Given the description of an element on the screen output the (x, y) to click on. 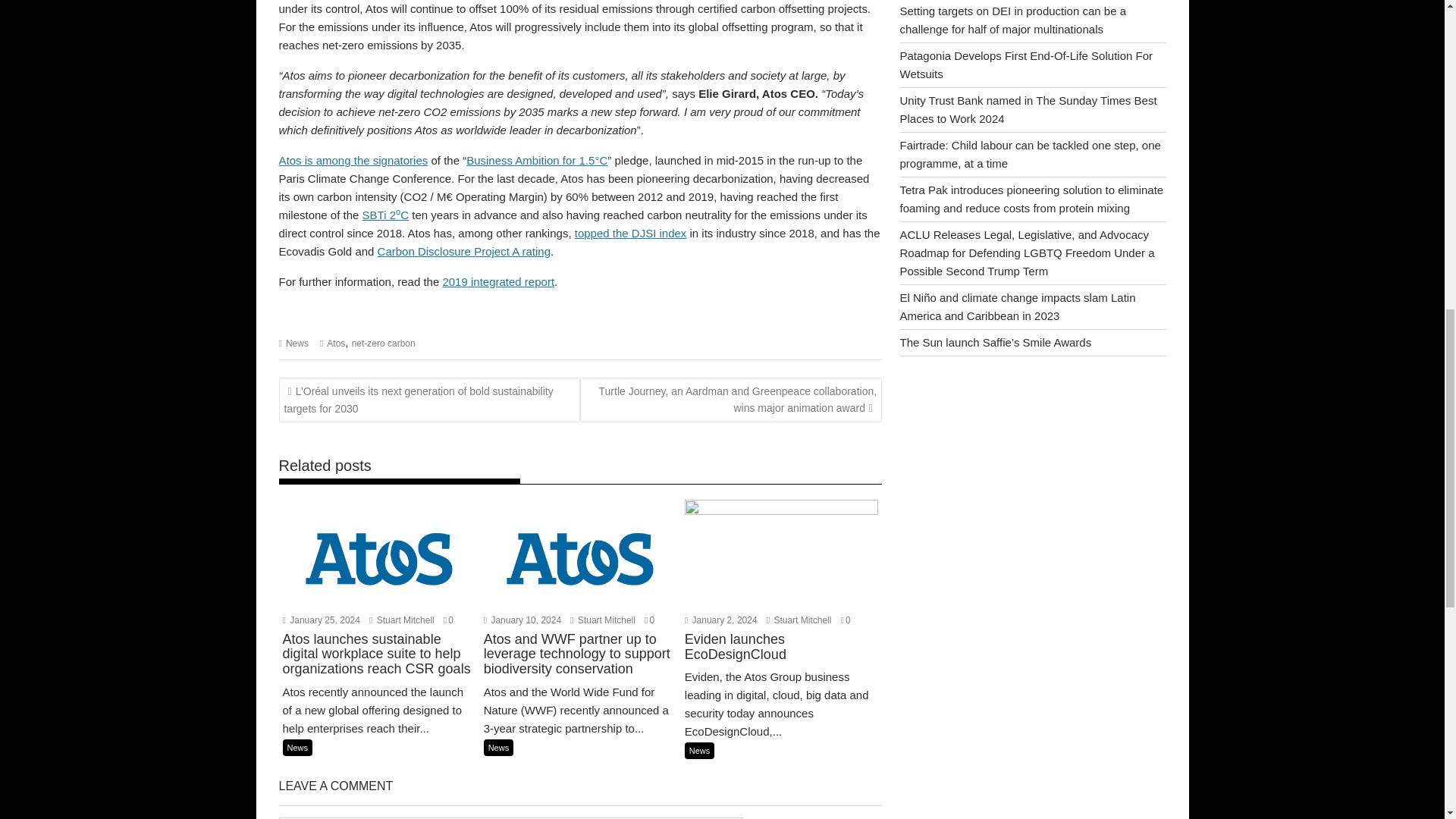
Atos is among the signatories (353, 160)
